Given the description of an element on the screen output the (x, y) to click on. 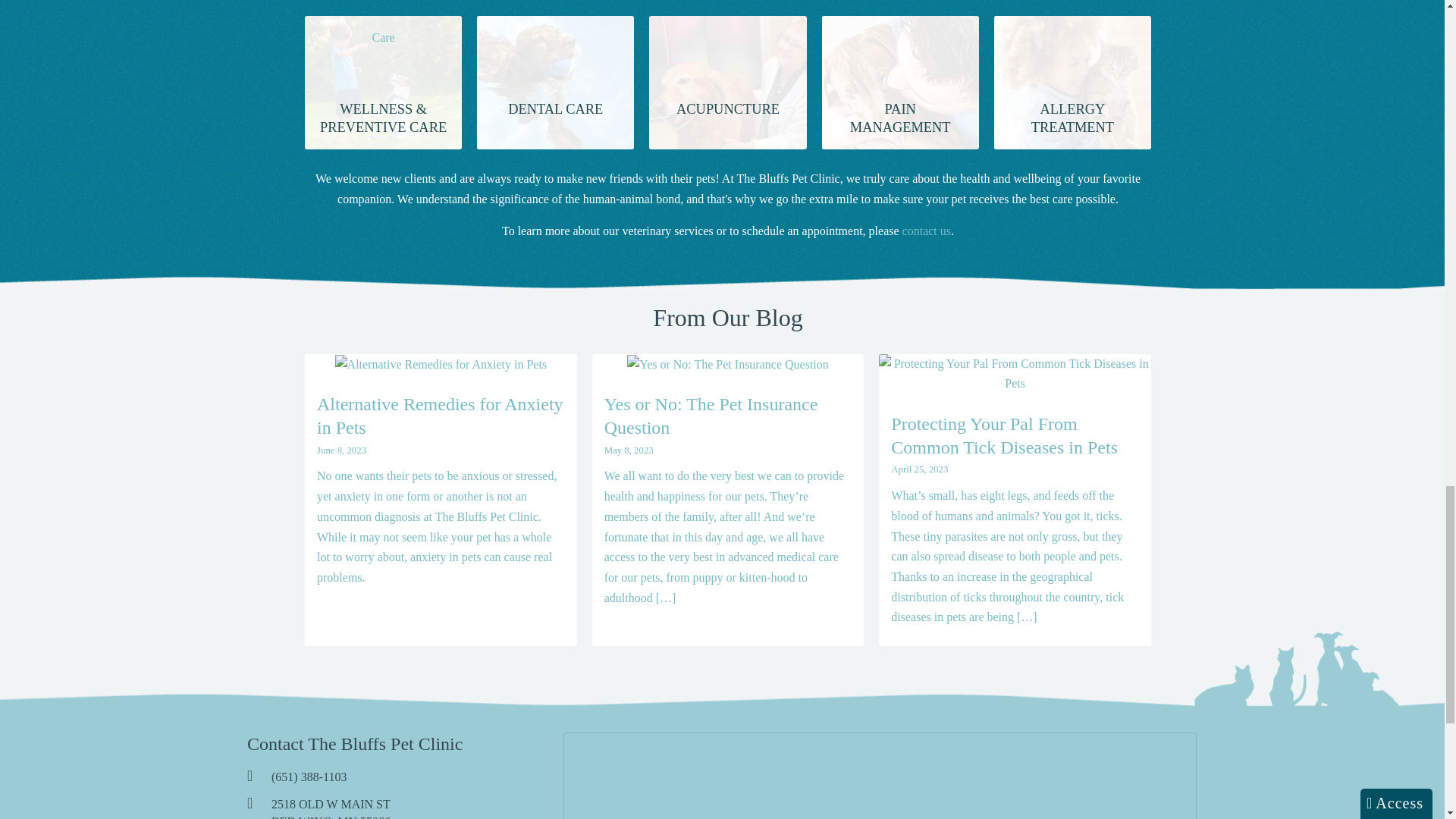
Dental Care (555, 43)
Alternative Remedies for Anxiety in Pets (440, 364)
Protecting Your Pal From Common Tick Diseases in Pets (1015, 373)
Allergy Treatment (1072, 43)
Yes or No: The Pet Insurance Question (727, 364)
The Bluffs Pet Clinic Map (879, 776)
Acupuncture (727, 43)
Pain Management (899, 43)
